Given the description of an element on the screen output the (x, y) to click on. 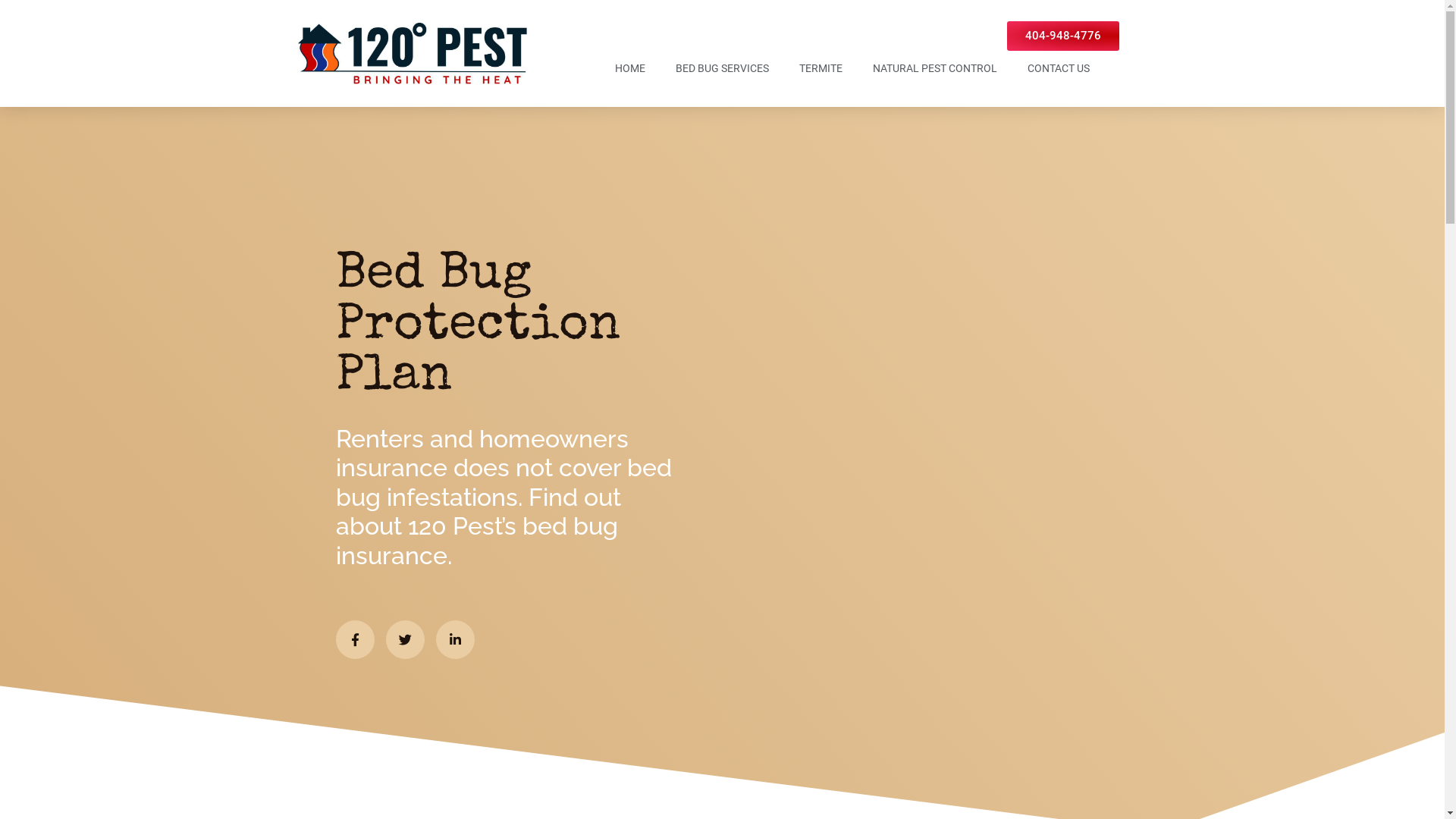
CONTACT US Element type: text (1057, 67)
404-948-4776 Element type: text (1063, 35)
TERMITE Element type: text (820, 67)
HOME Element type: text (629, 67)
BED BUG SERVICES Element type: text (721, 67)
NATURAL PEST CONTROL Element type: text (933, 67)
